Given the description of an element on the screen output the (x, y) to click on. 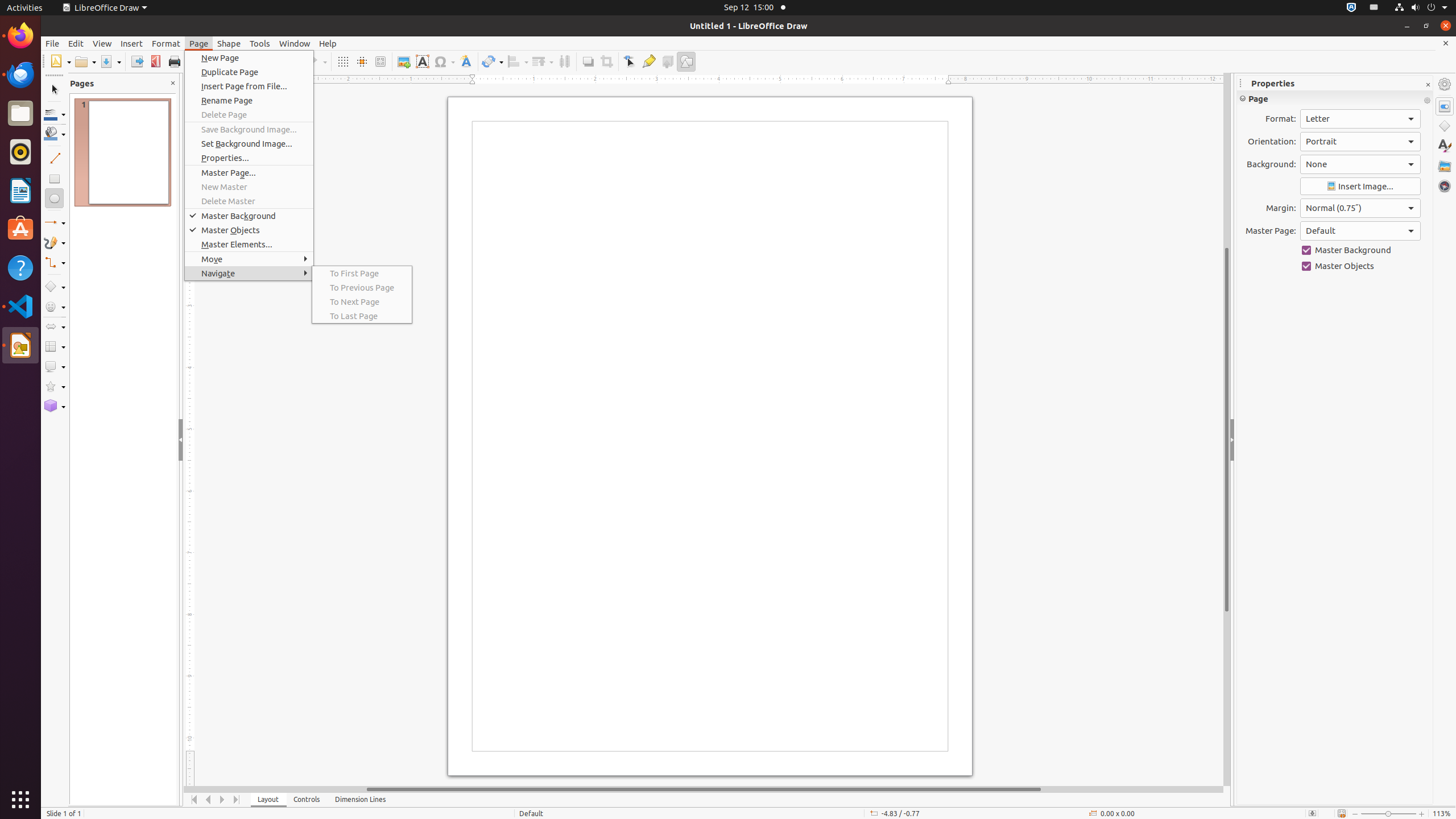
Master Objects Element type: check-box (1360, 265)
LibreOffice Draw Element type: push-button (20, 344)
Set Background Image... Element type: menu-item (248, 143)
Text Box Element type: push-button (421, 61)
Ubuntu Software Element type: push-button (20, 229)
